Given the description of an element on the screen output the (x, y) to click on. 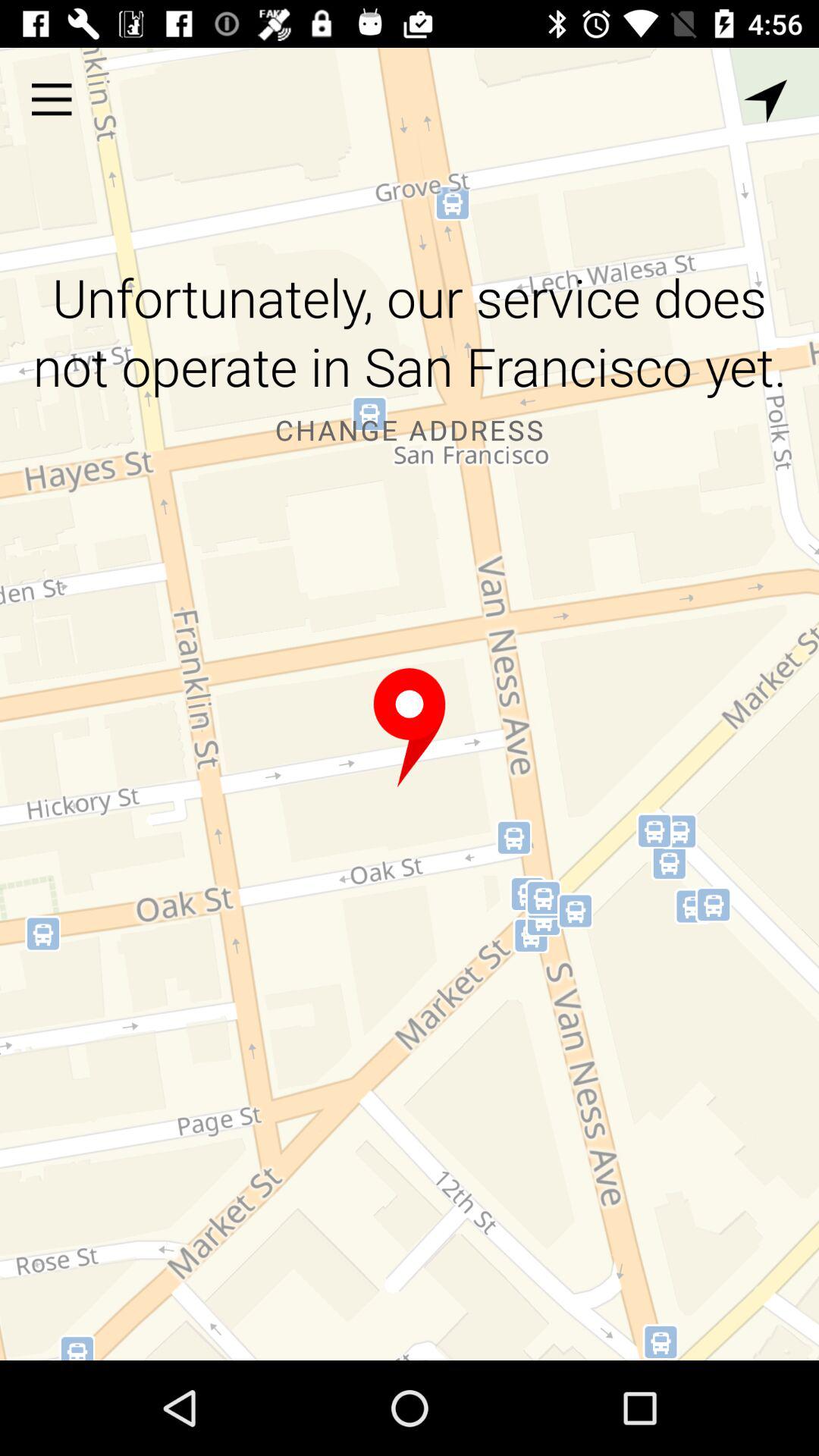
choose the location (409, 727)
